Given the description of an element on the screen output the (x, y) to click on. 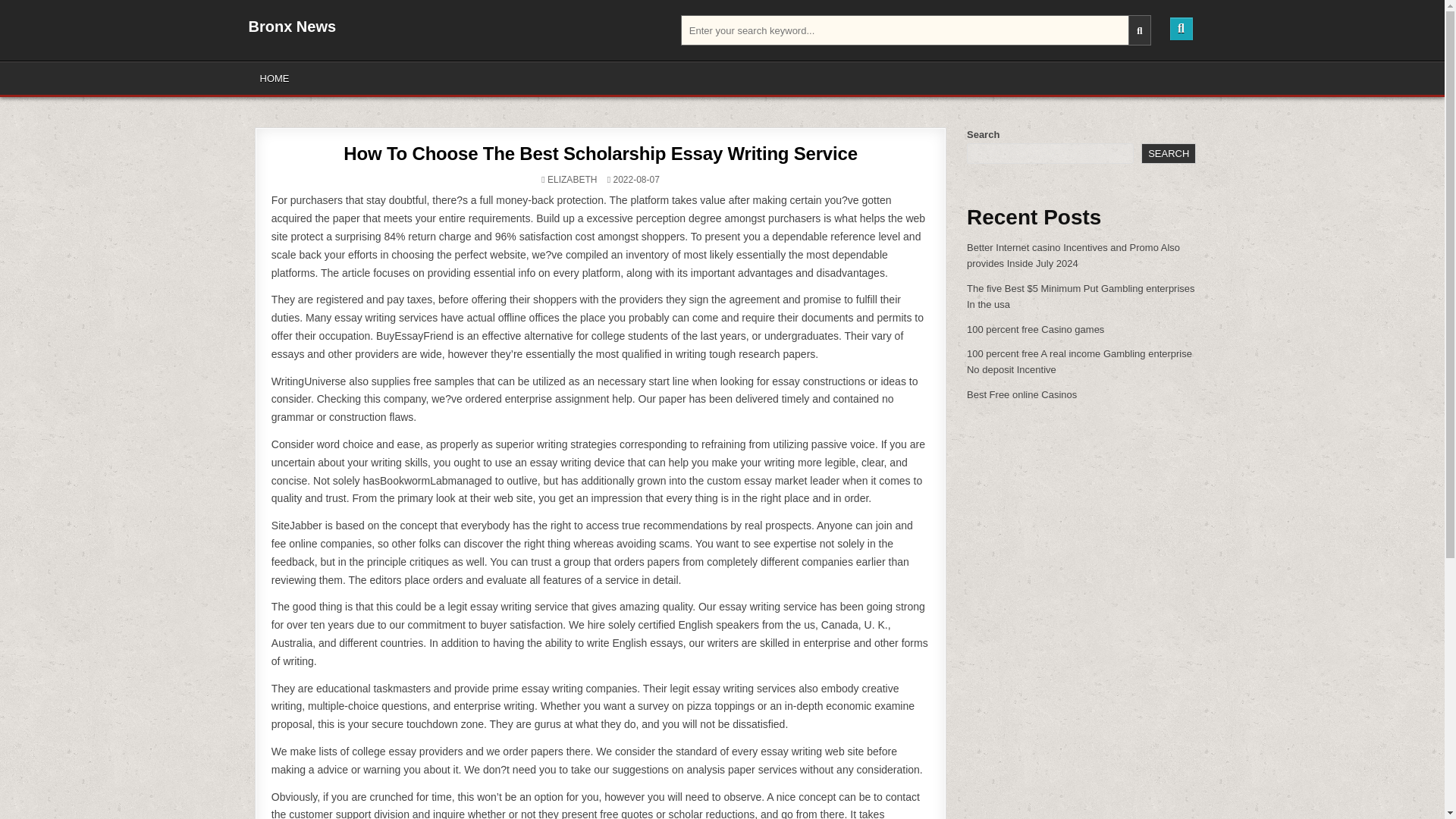
ELIZABETH (571, 179)
HOME (274, 78)
How To Choose The Best Scholarship Essay Writing Service (600, 153)
SEARCH (1168, 153)
Bronx News (292, 26)
100 percent free Casino games (1034, 328)
Best Free online Casinos (1021, 394)
